Given the description of an element on the screen output the (x, y) to click on. 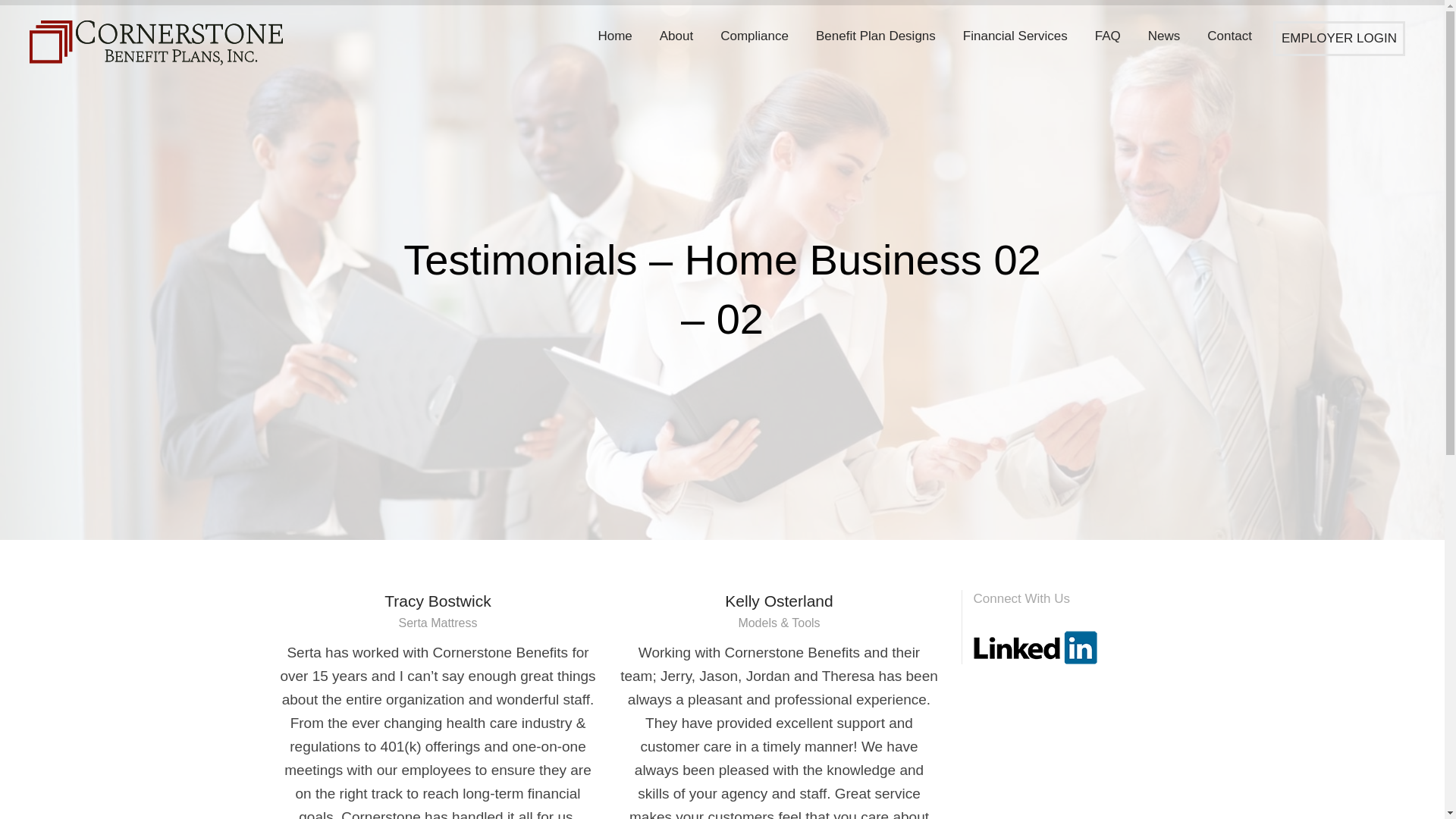
FAQ (1107, 36)
News (1163, 36)
Benefit Plan Designs (875, 36)
EMPLOYER LOGIN (1339, 38)
Compliance (754, 36)
About (675, 36)
Contact (1229, 36)
Home (614, 36)
Financial Services (1015, 36)
Cornerstone Benefit Plans Inc. (163, 42)
